Given the description of an element on the screen output the (x, y) to click on. 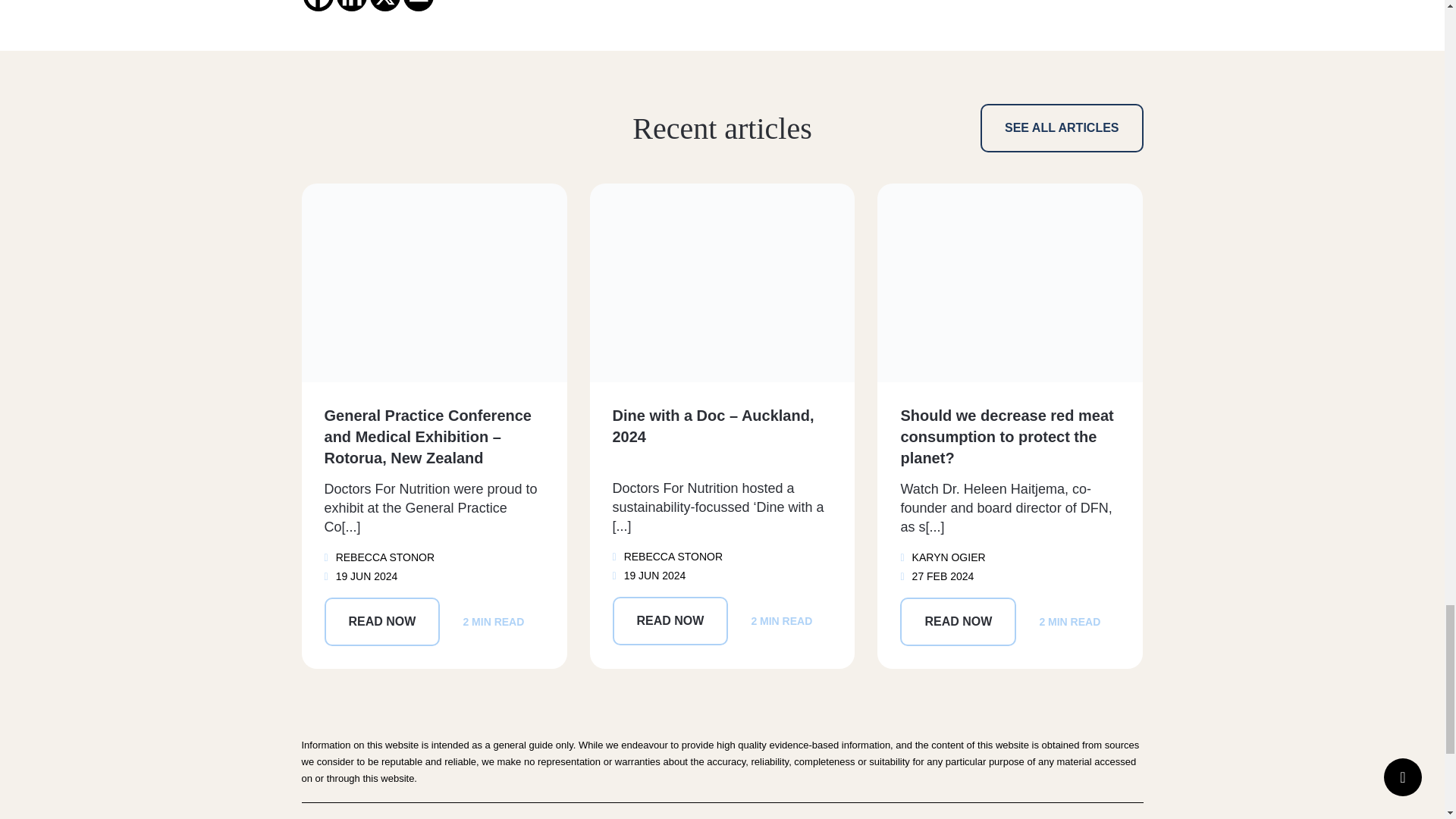
X (384, 5)
Facebook (317, 5)
Email (418, 5)
Linkedin (351, 5)
